Given the description of an element on the screen output the (x, y) to click on. 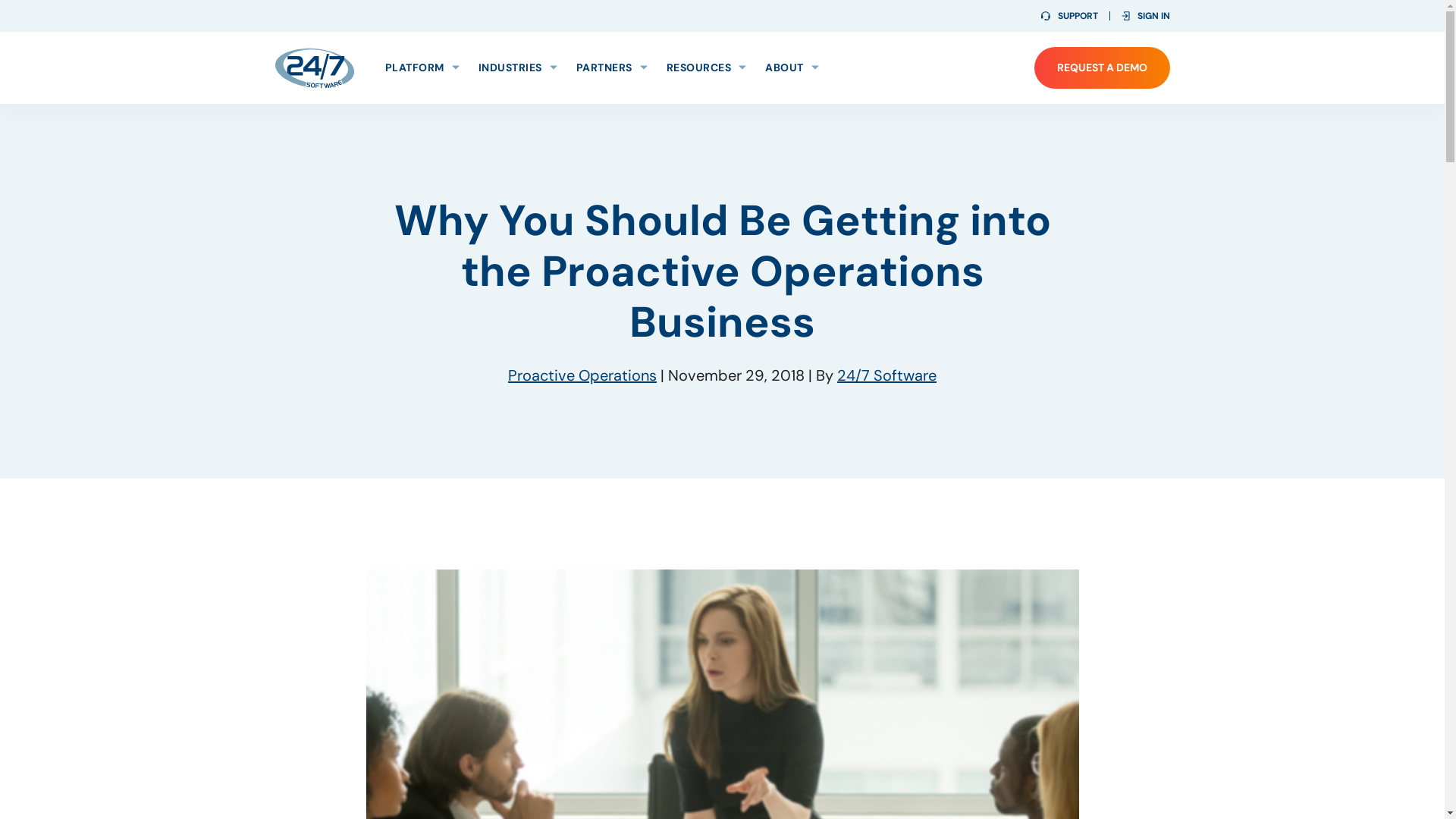
PLATFORM Element type: text (422, 67)
24/7 Software Element type: hover (314, 67)
SIGN IN Element type: text (1144, 15)
RESOURCES Element type: text (705, 67)
Proactive Operations Element type: text (582, 375)
ABOUT Element type: text (792, 67)
PARTNERS Element type: text (611, 67)
INDUSTRIES Element type: text (516, 67)
24/7 Software Element type: text (886, 375)
REQUEST A DEMO Element type: text (1102, 67)
SUPPORT Element type: text (1068, 15)
